Given the description of an element on the screen output the (x, y) to click on. 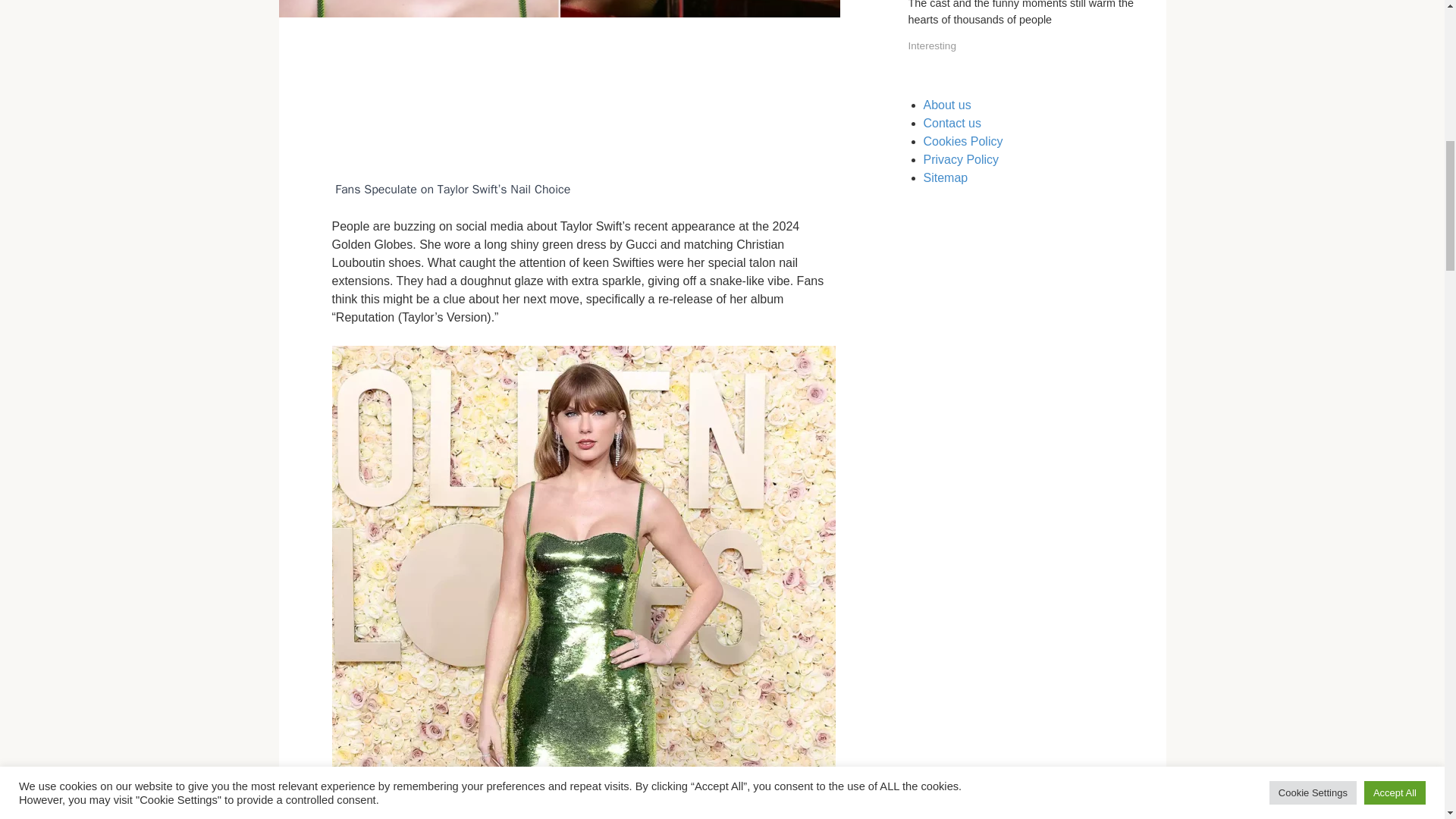
Contact us (952, 123)
Interesting (932, 45)
Cookies Policy (963, 141)
Advertisement (585, 97)
Privacy Policy (960, 159)
Sitemap (945, 177)
About us (947, 104)
